Given the description of an element on the screen output the (x, y) to click on. 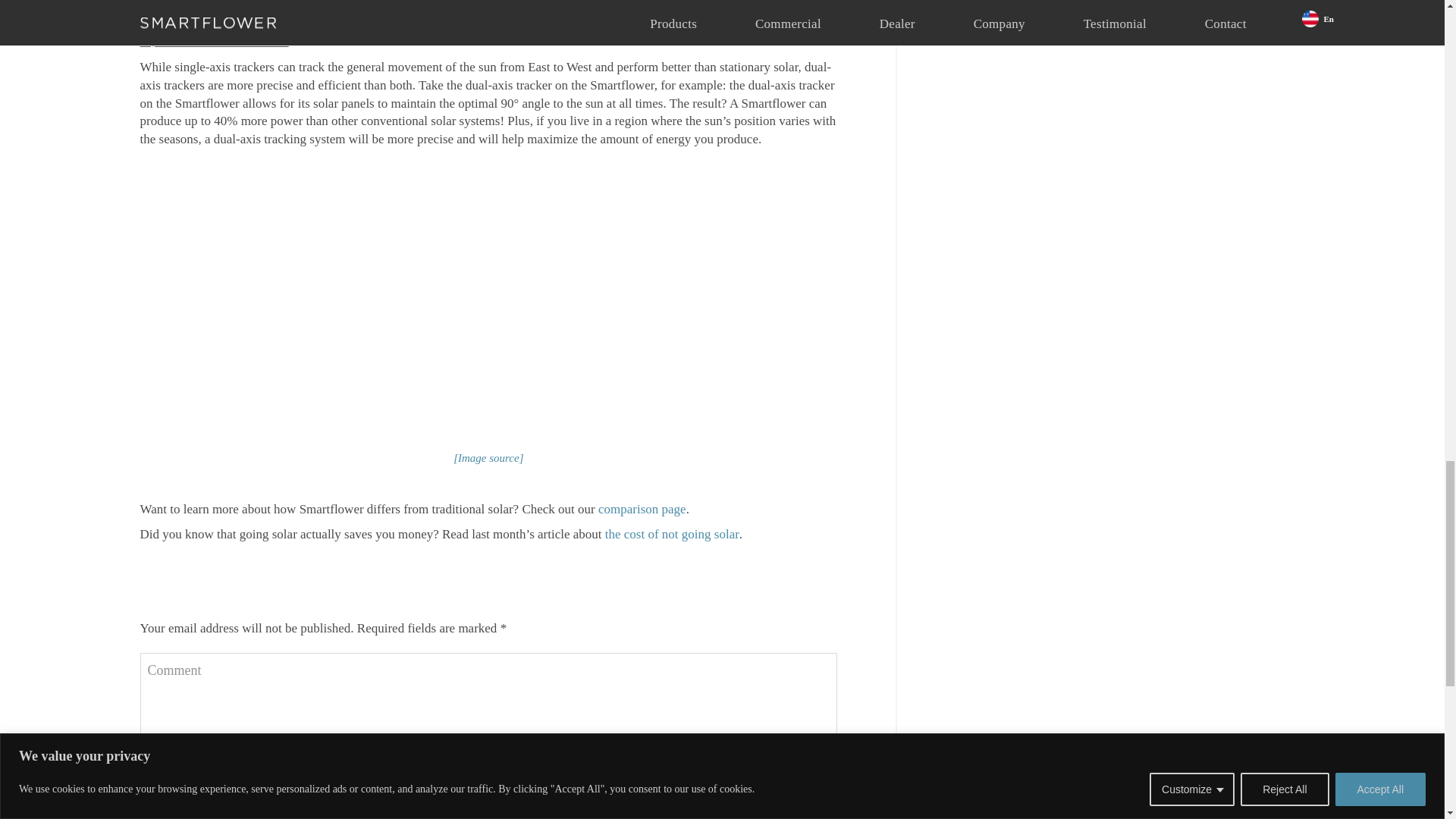
the cost of not going solar (672, 534)
comparison page (641, 509)
